Given the description of an element on the screen output the (x, y) to click on. 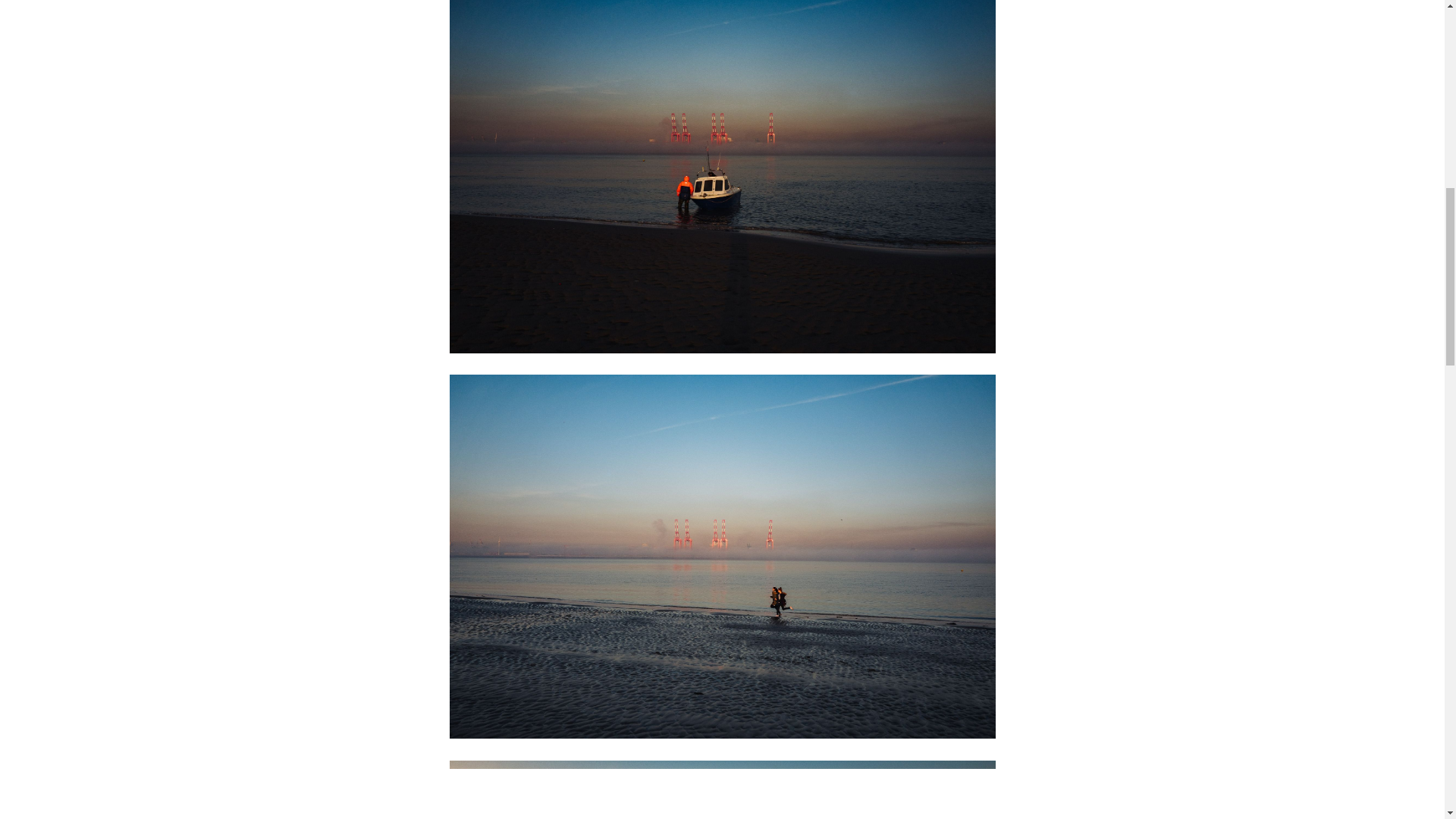
New Brighton-L1040921-pete-carr-pete-carr.jpg (721, 789)
